Given the description of an element on the screen output the (x, y) to click on. 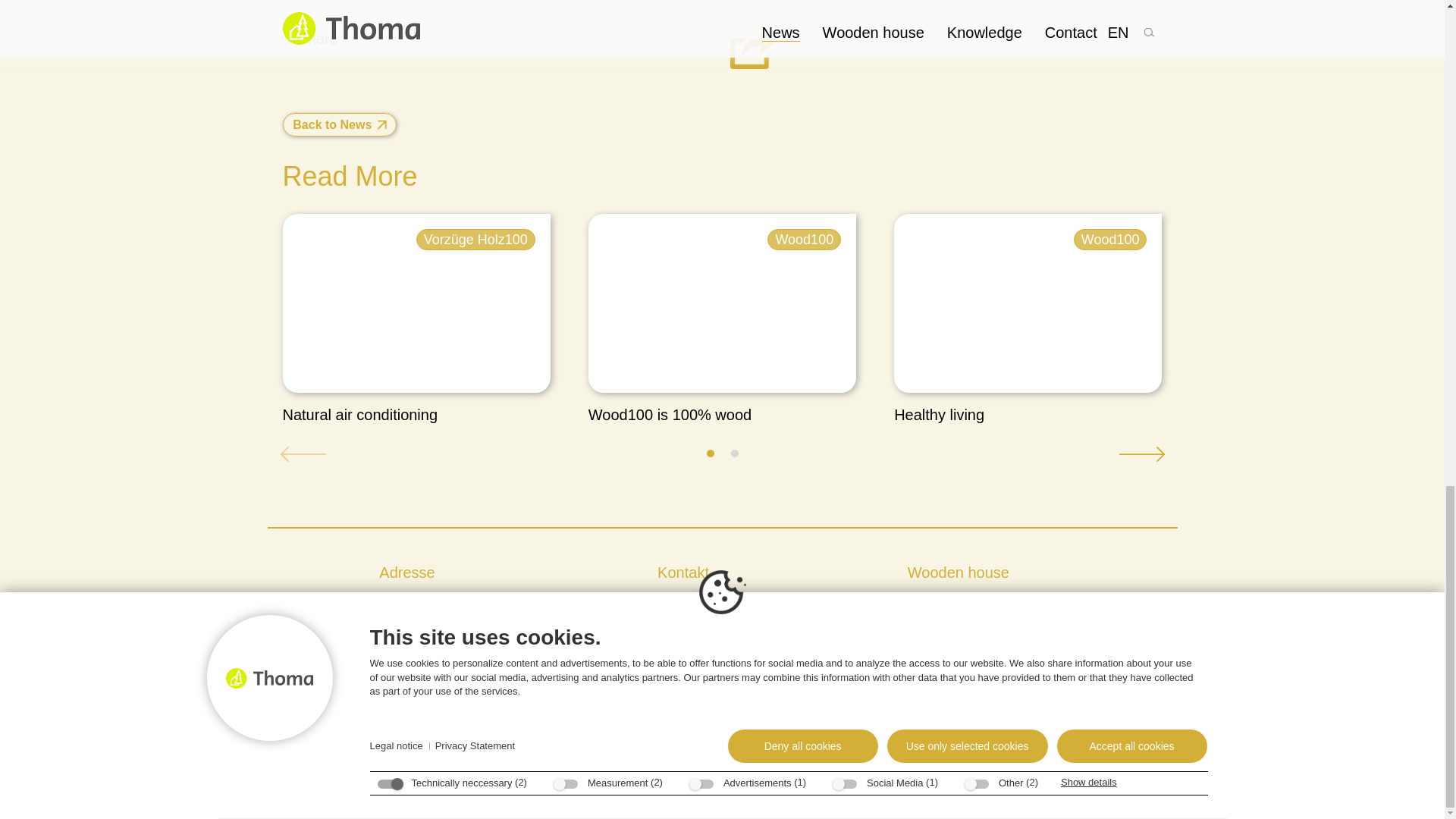
O (733, 453)
Vor (1140, 453)
O (709, 453)
